Given the description of an element on the screen output the (x, y) to click on. 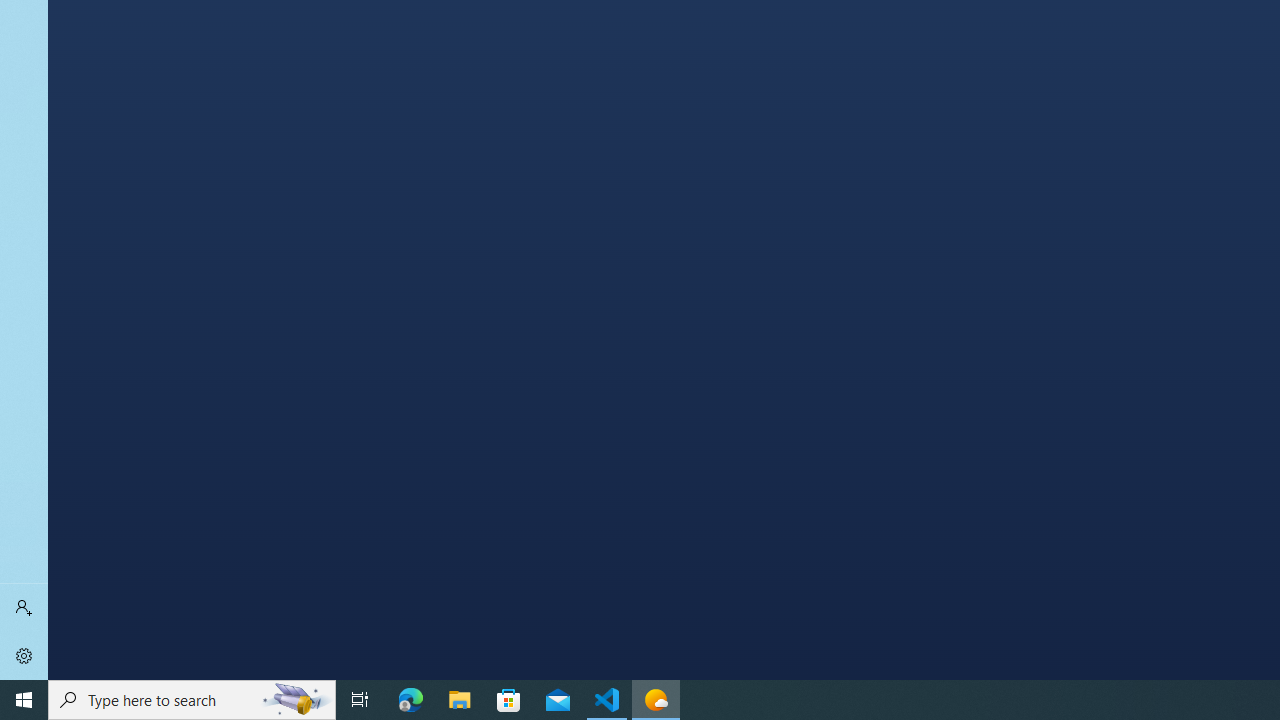
Sign in (24, 607)
Settings (24, 655)
Weather - 1 running window (656, 699)
